Given the description of an element on the screen output the (x, y) to click on. 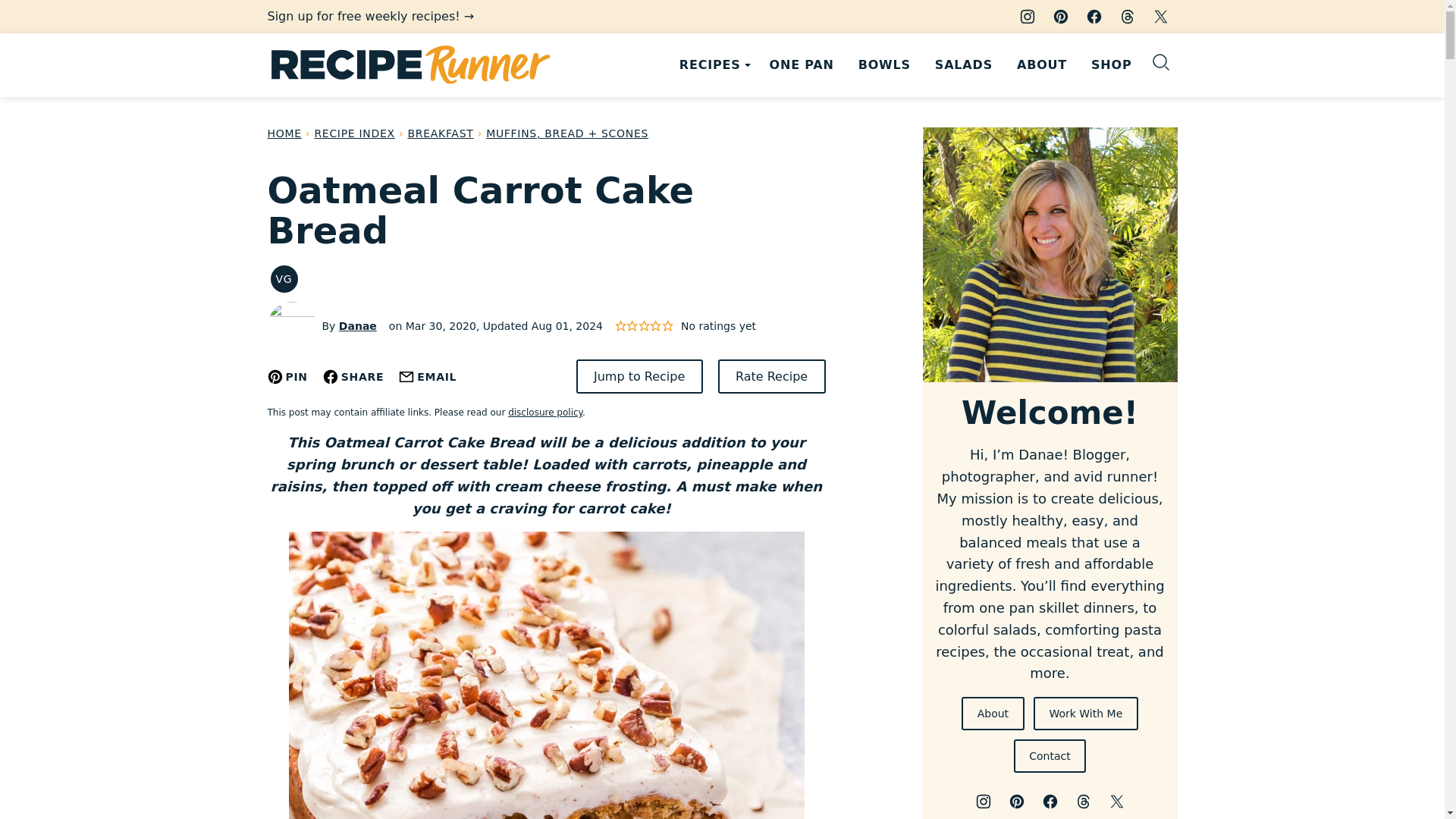
Vegetarian (282, 278)
RECIPES (711, 64)
Share on Pinterest (286, 376)
Share on Facebook (353, 376)
Share via Email (427, 376)
